Given the description of an element on the screen output the (x, y) to click on. 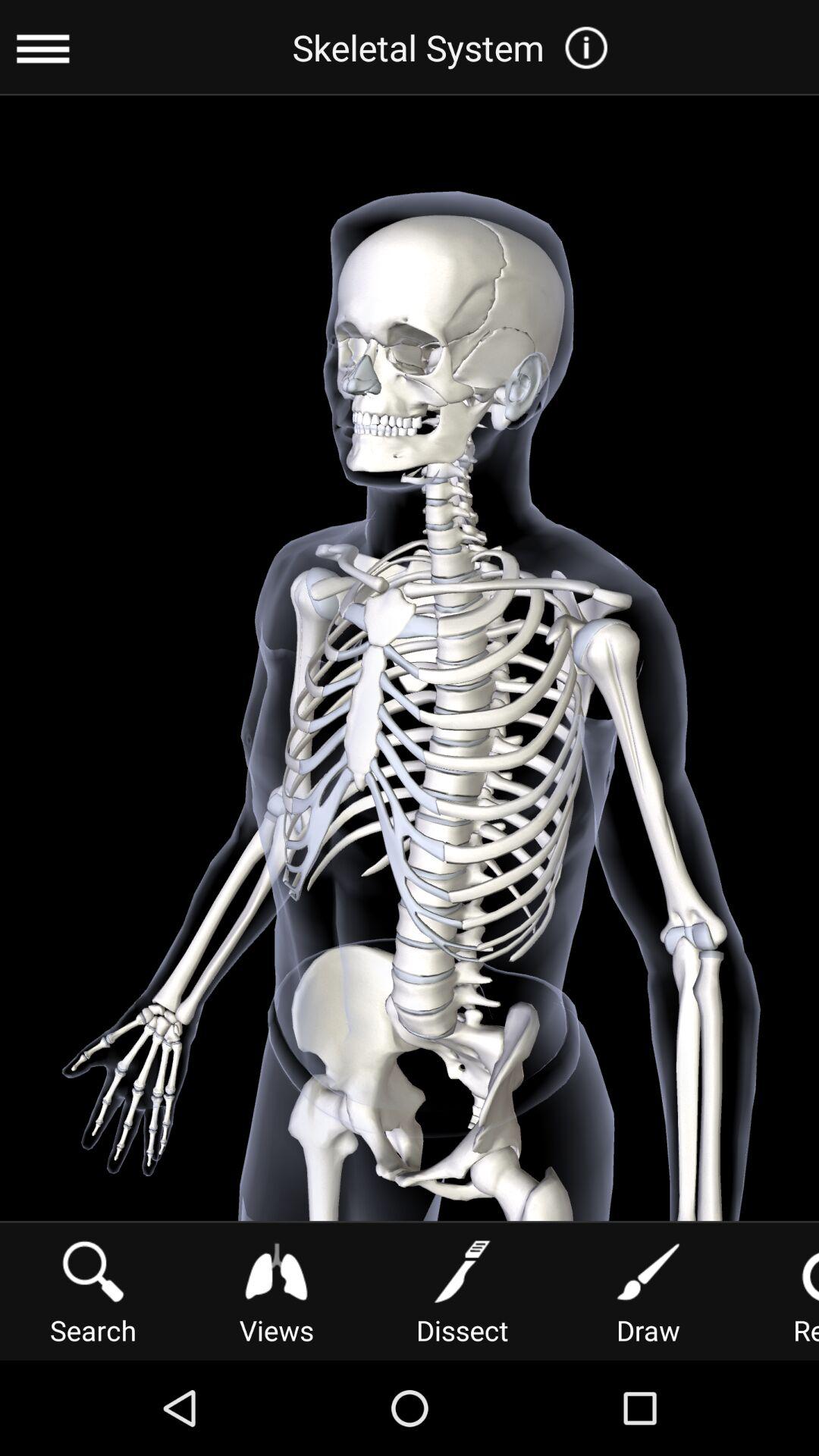
swipe until reset icon (783, 1290)
